Given the description of an element on the screen output the (x, y) to click on. 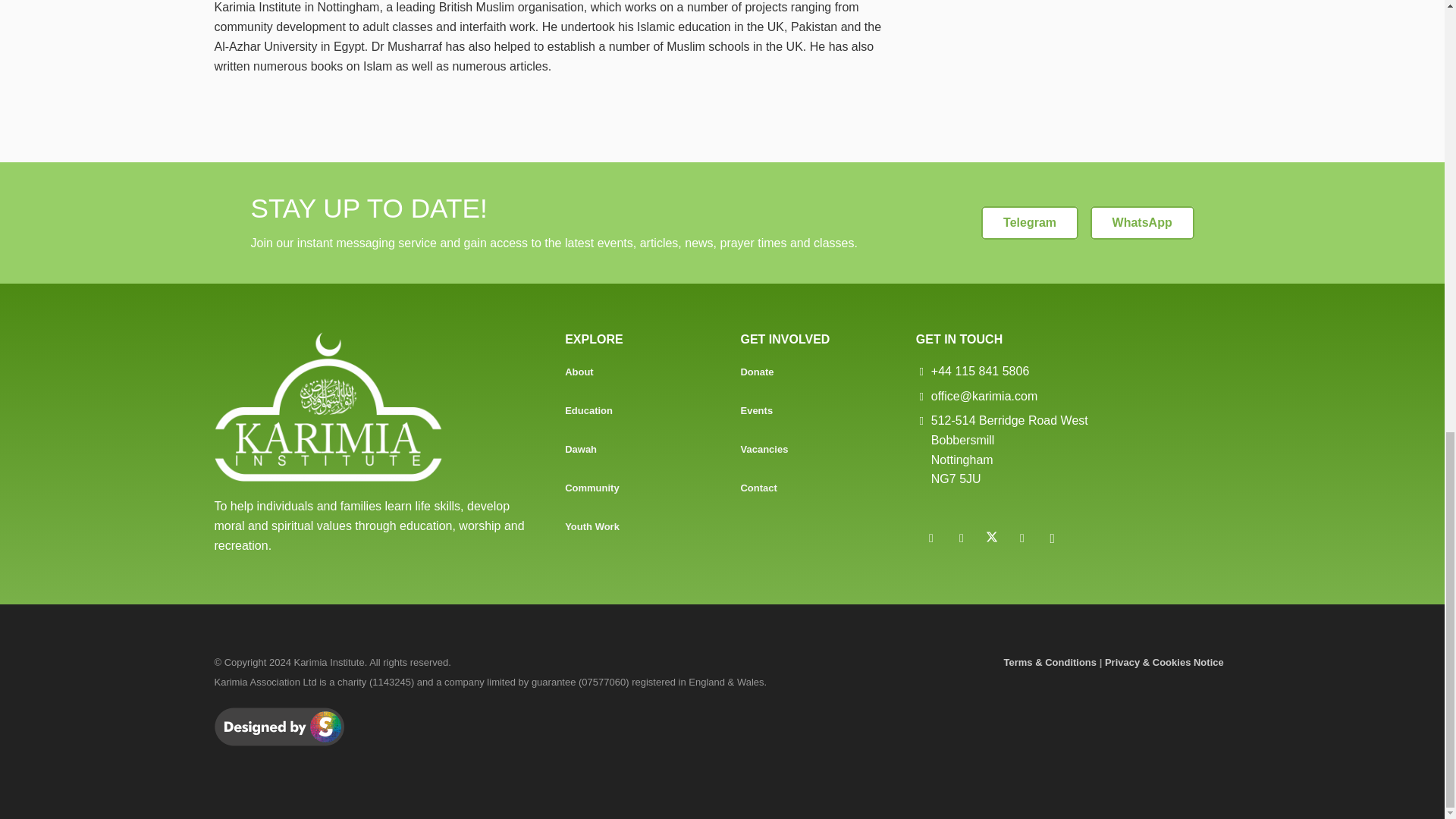
LinkedIn (930, 538)
Twitter (991, 538)
Facebook (961, 538)
Instagram (1051, 538)
YouTube (1021, 538)
